Given the description of an element on the screen output the (x, y) to click on. 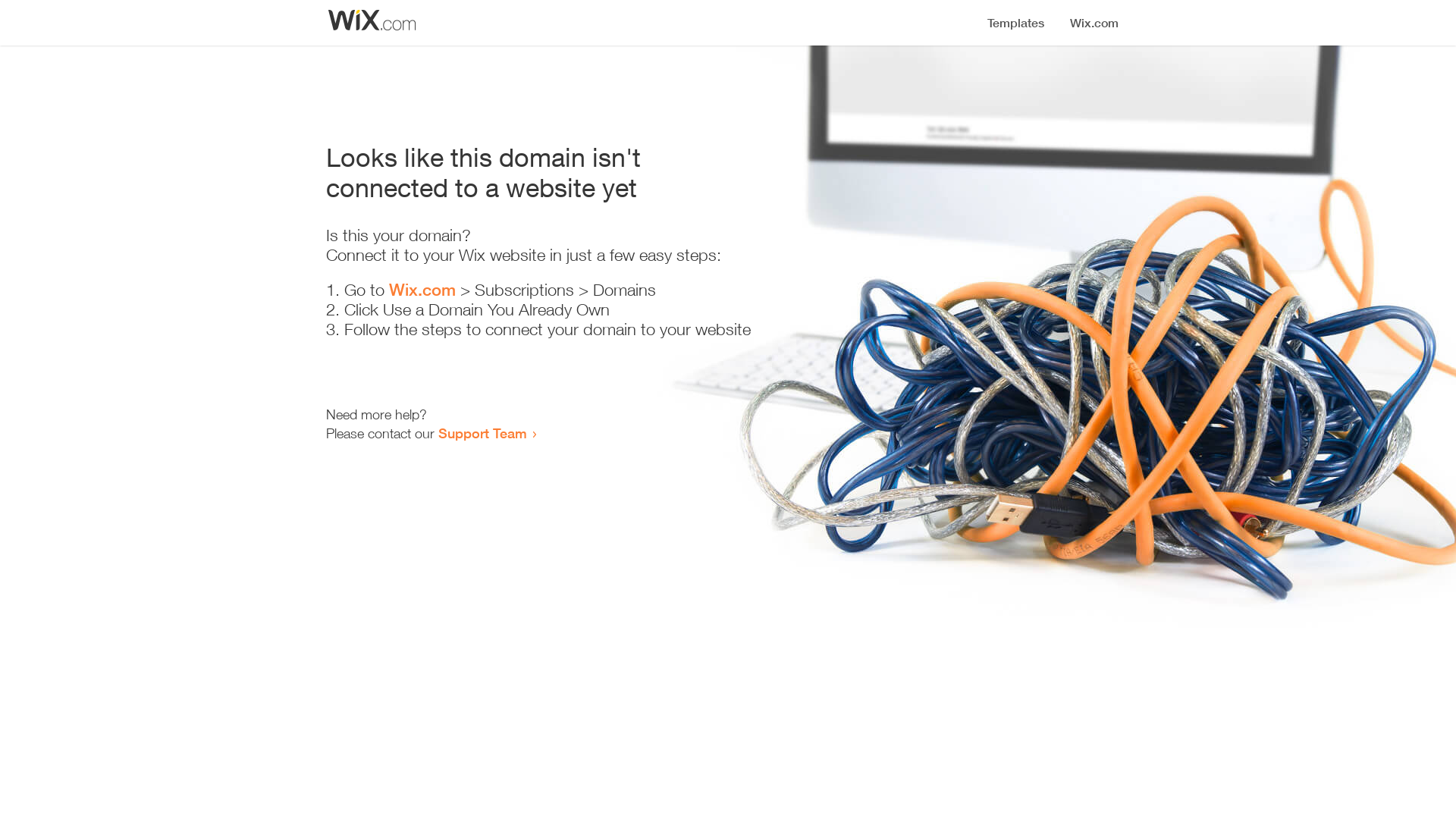
Wix.com Element type: text (422, 289)
Support Team Element type: text (482, 432)
